Given the description of an element on the screen output the (x, y) to click on. 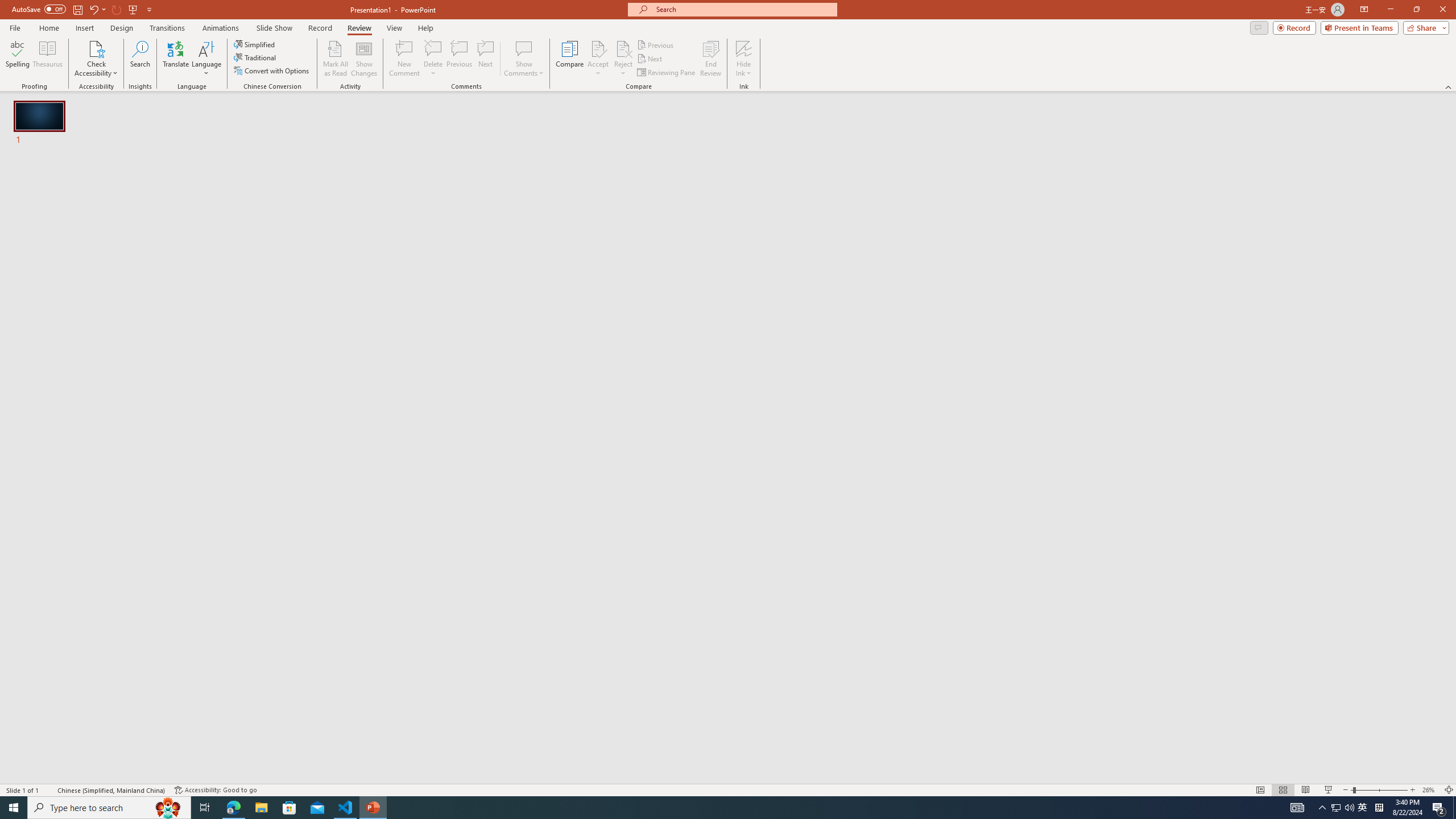
Thesaurus... (47, 58)
Reject Change (622, 48)
End Review (710, 58)
New Comment (403, 58)
Simplified (254, 44)
Convert with Options... (272, 69)
Traditional (255, 56)
